Given the description of an element on the screen output the (x, y) to click on. 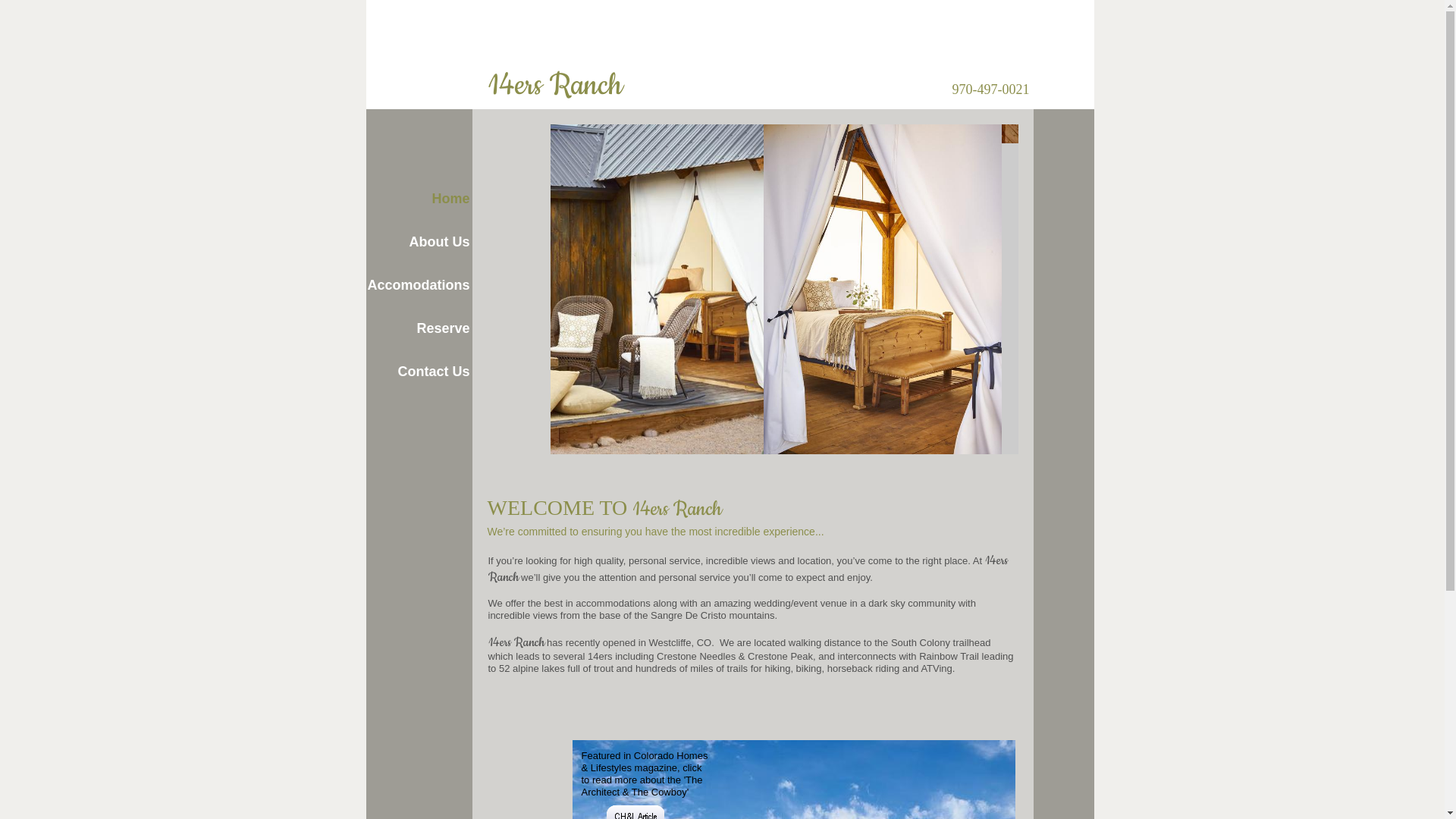
Accomodations Element type: text (418, 285)
Home Element type: text (418, 198)
Contact Us Element type: text (418, 371)
About Us Element type: text (418, 241)
Reserve Element type: text (418, 328)
